Given the description of an element on the screen output the (x, y) to click on. 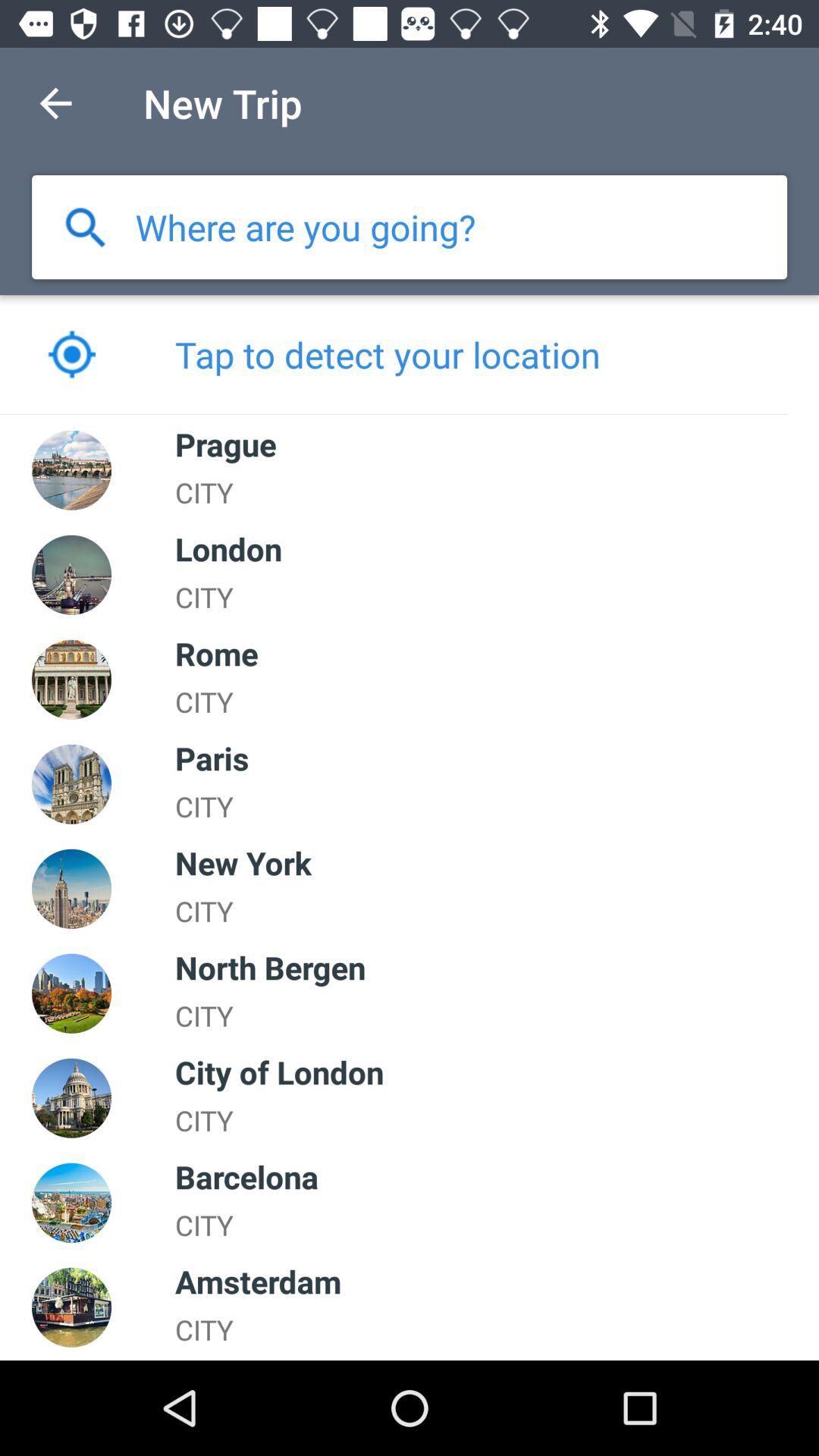
enter your destination (305, 227)
